Given the description of an element on the screen output the (x, y) to click on. 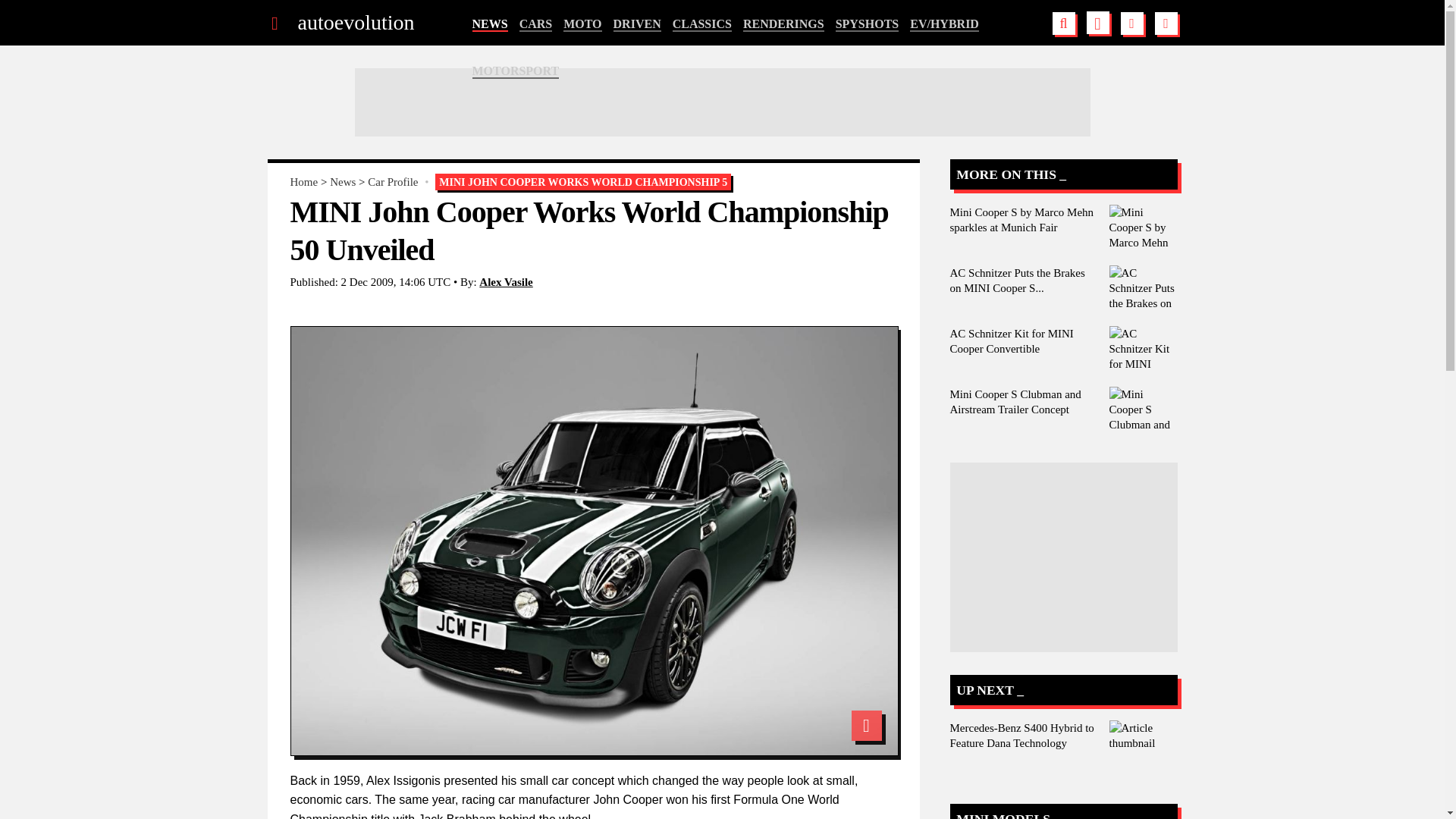
autoevolution (355, 22)
NEWS (488, 24)
MOTORSPORT (515, 71)
autoevolution (355, 22)
Car Profile (392, 182)
MOTO (582, 24)
Home (303, 182)
News (342, 182)
DRIVEN (636, 24)
CLASSICS (702, 24)
